Given the description of an element on the screen output the (x, y) to click on. 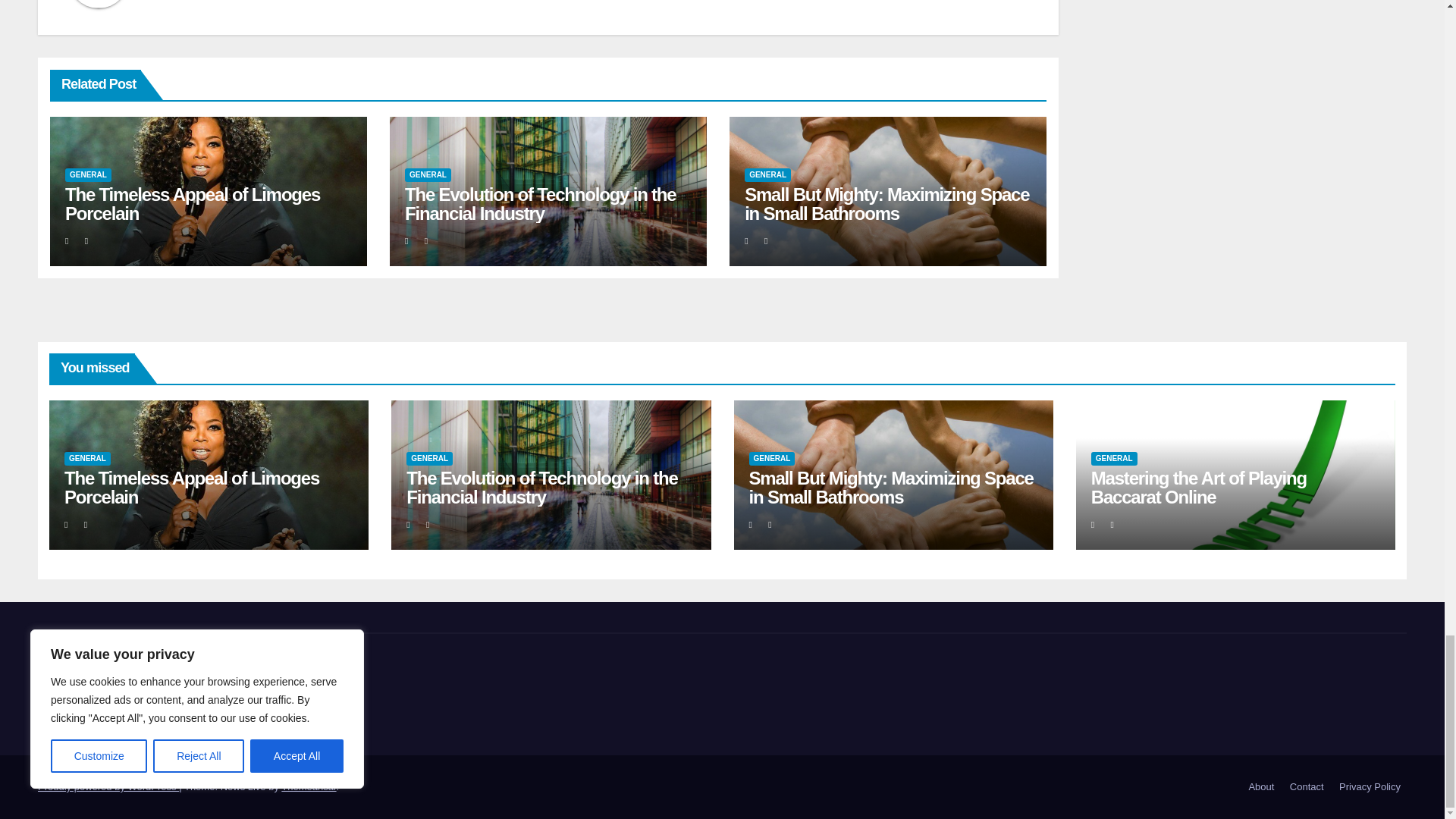
Privacy Policy (1369, 786)
About (1260, 786)
Permalink to: The Timeless Appeal of Limoges Porcelain (191, 486)
Permalink to: The Timeless Appeal of Limoges Porcelain (192, 203)
Contact (1307, 786)
Permalink to: Mastering the Art of Playing Baccarat Online (1198, 486)
